Given the description of an element on the screen output the (x, y) to click on. 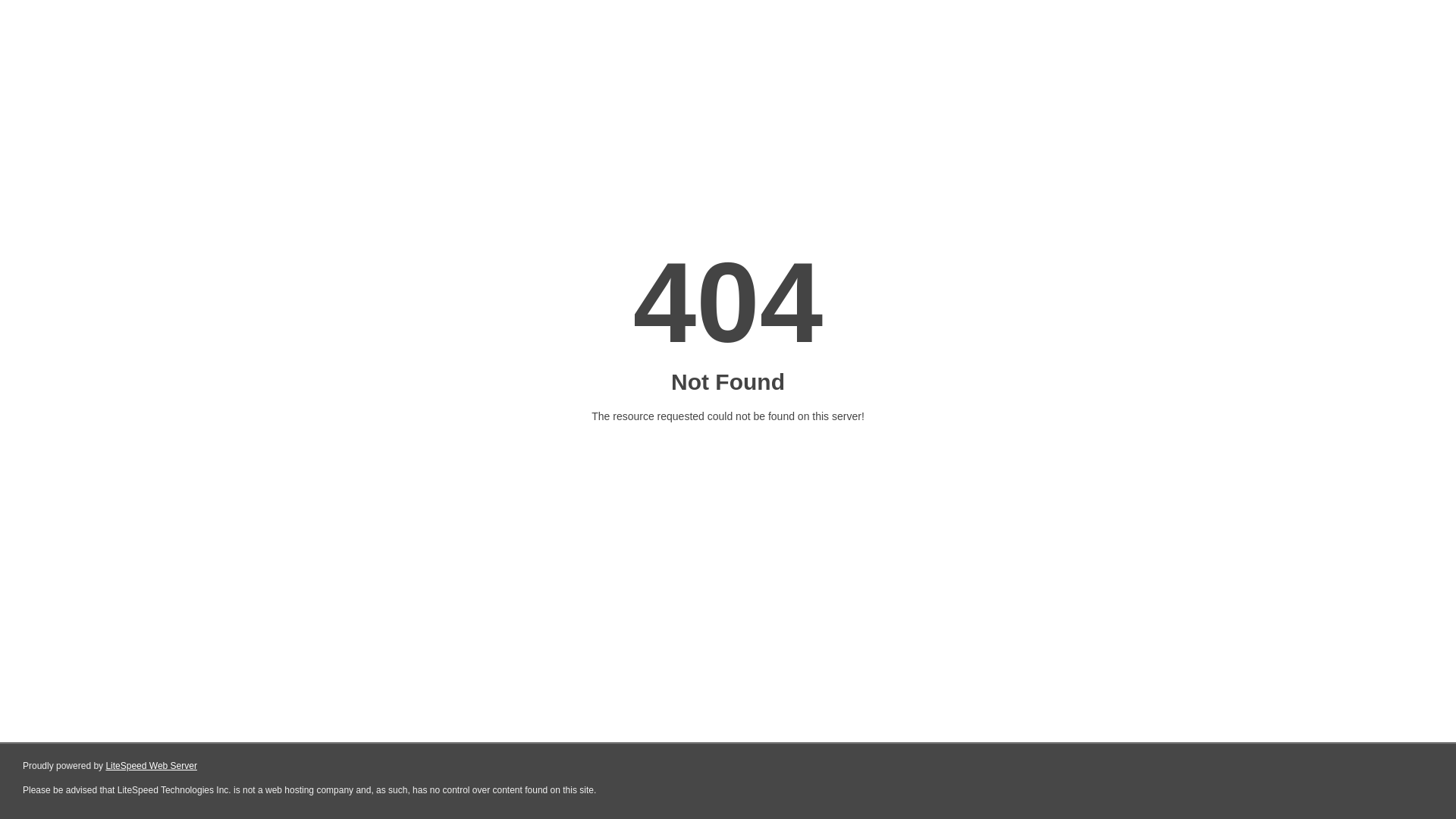
LiteSpeed Web Server Element type: text (151, 765)
